Given the description of an element on the screen output the (x, y) to click on. 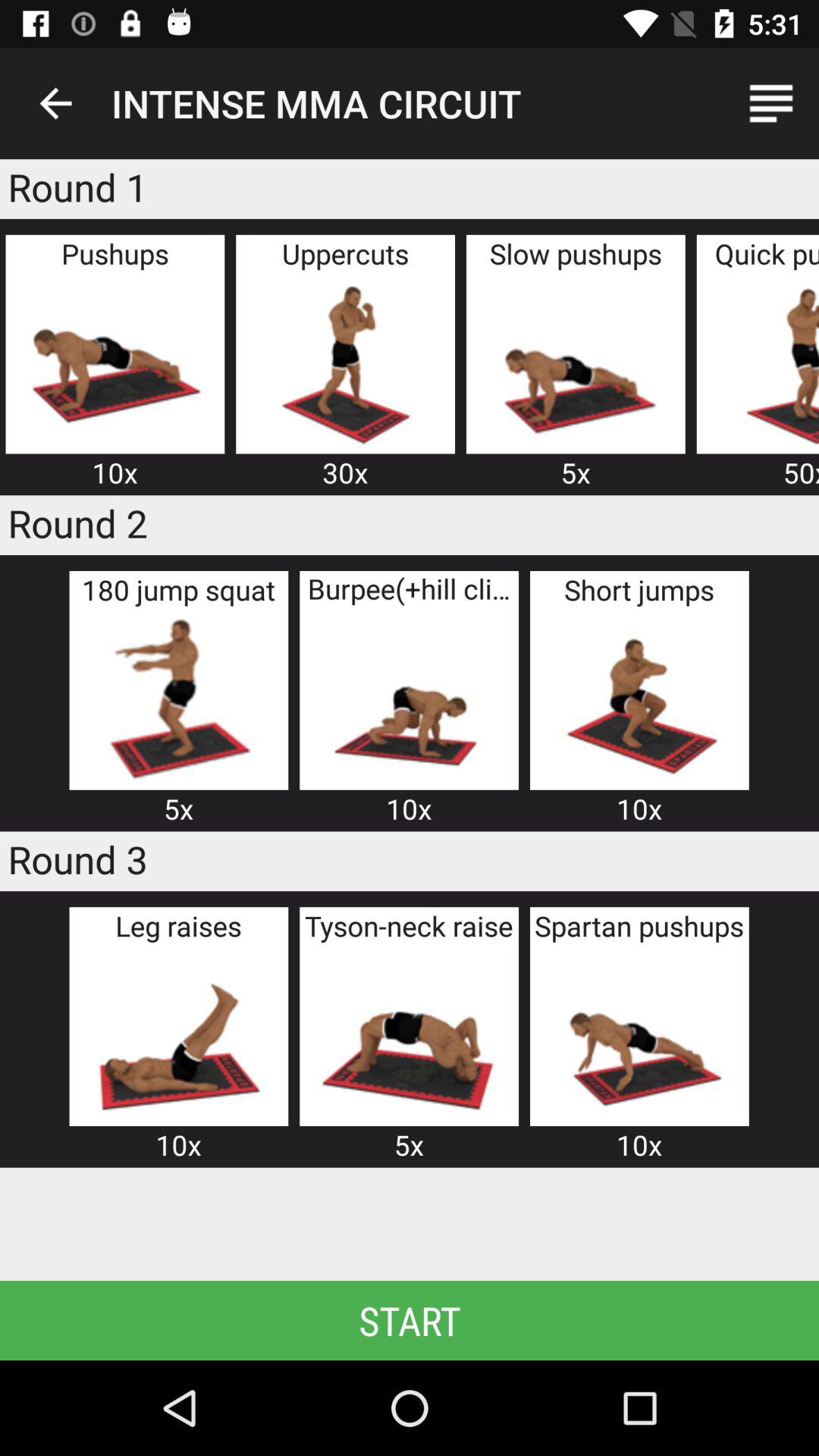
turn on start item (409, 1320)
